Given the description of an element on the screen output the (x, y) to click on. 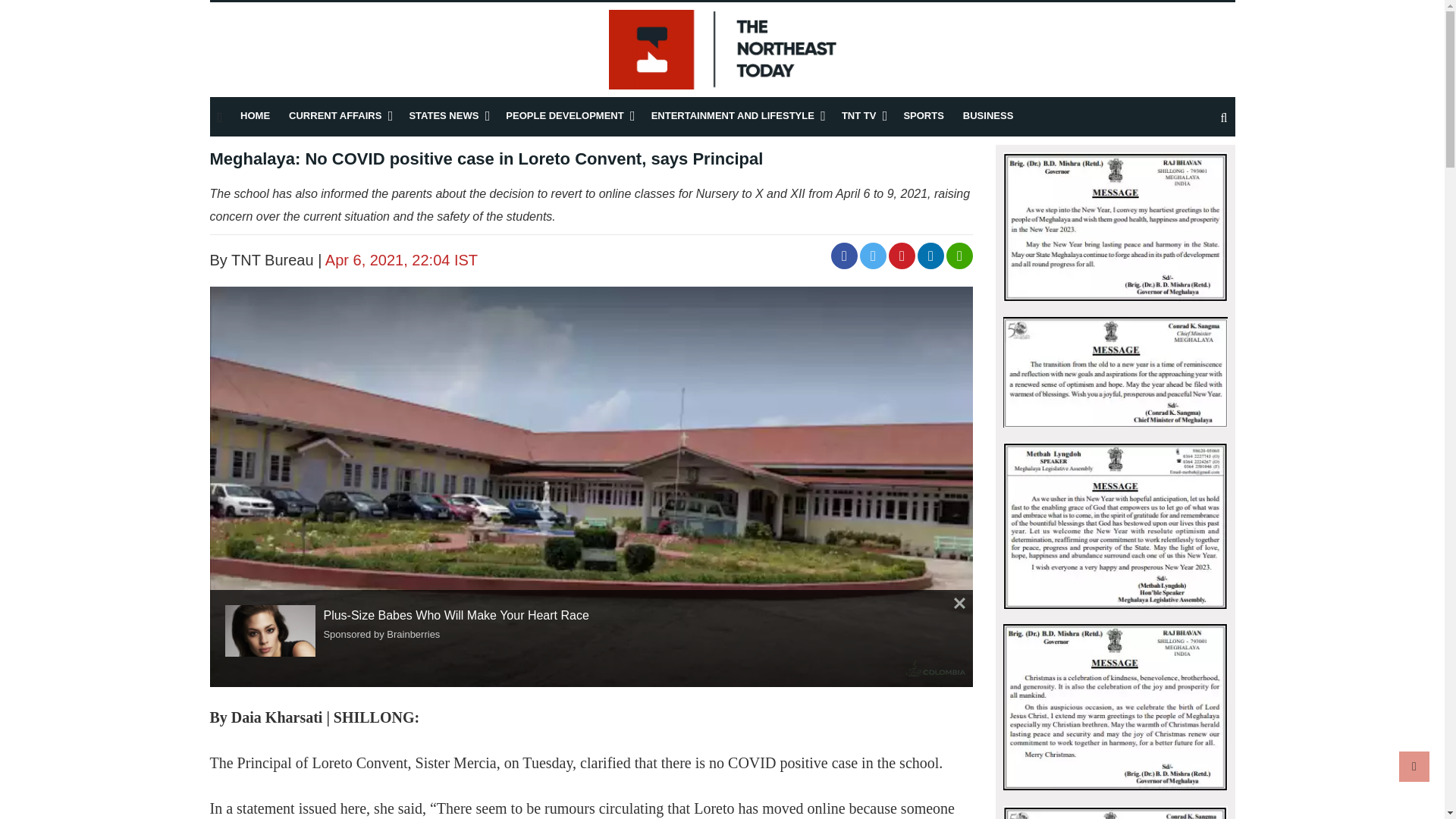
Plus-Size Babes Who Will Make Your Heart Race (274, 630)
CURRENT AFFAIRS (334, 115)
BUSINESS (987, 115)
3rd party ad content (176, 752)
PEOPLE DEVELOPMENT (564, 115)
ENTERTAINMENT AND LIFESTYLE (731, 115)
HOME (254, 115)
SPORTS (922, 115)
STATES NEWS (444, 115)
TNT TV (858, 115)
